Given the description of an element on the screen output the (x, y) to click on. 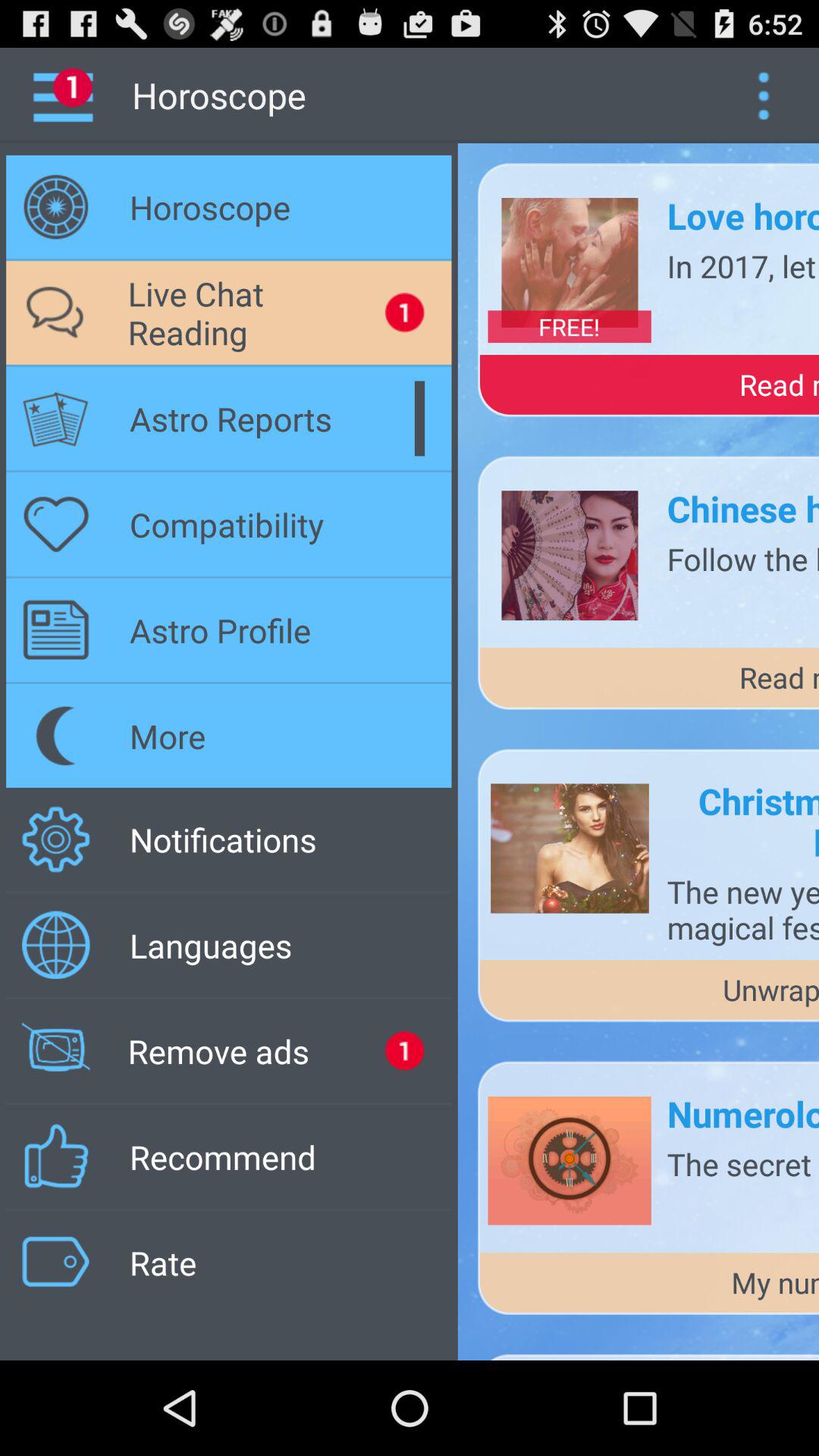
open the item below christmas and nye item (743, 909)
